Given the description of an element on the screen output the (x, y) to click on. 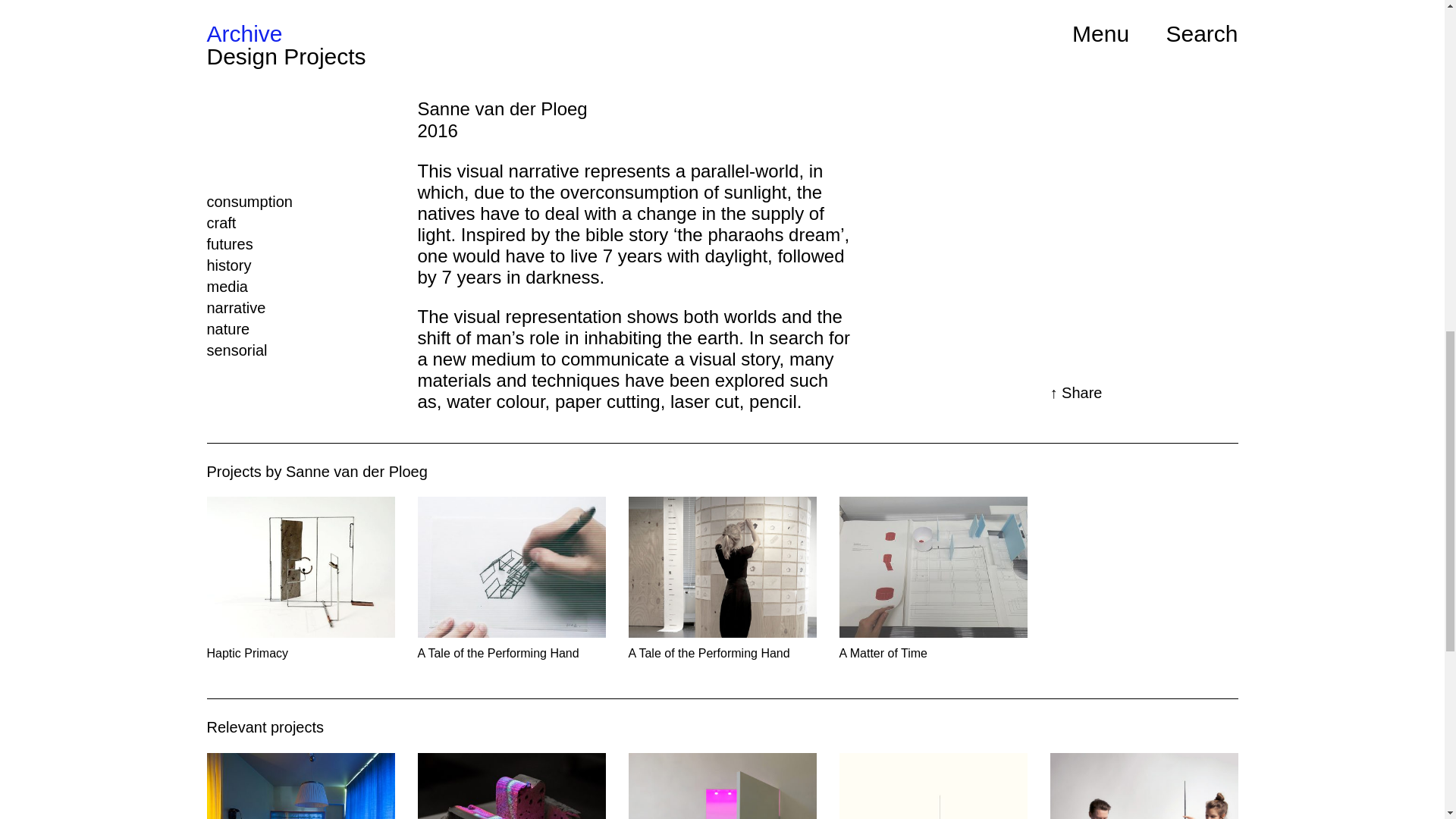
sensorial (236, 350)
media (226, 286)
craft (220, 222)
futures (228, 243)
consumption (249, 201)
history (228, 265)
narrative (235, 307)
nature (227, 329)
